Given the description of an element on the screen output the (x, y) to click on. 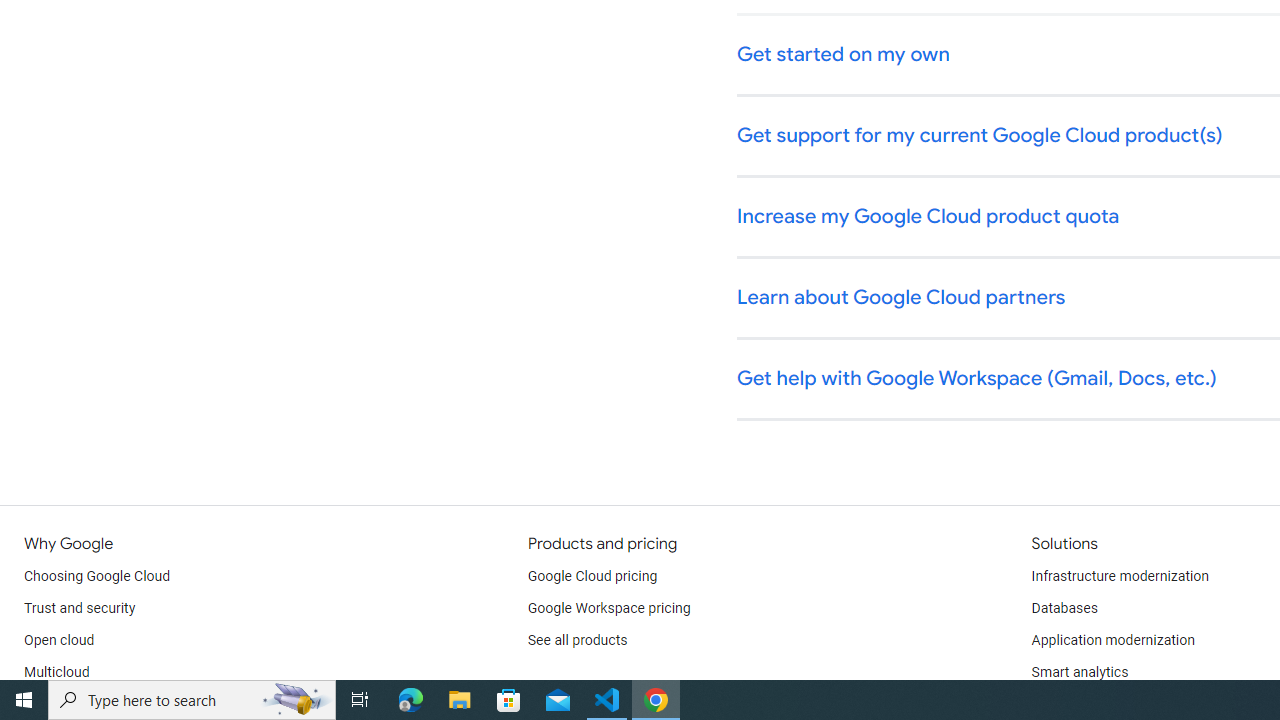
Application modernization (1112, 640)
Smart analytics (1079, 672)
Infrastructure modernization (1119, 576)
See all products (577, 640)
Open cloud (59, 640)
Google Workspace pricing (609, 608)
Multicloud (56, 672)
Google Cloud pricing (592, 576)
Trust and security (79, 608)
Databases (1064, 608)
Choosing Google Cloud (97, 576)
